Given the description of an element on the screen output the (x, y) to click on. 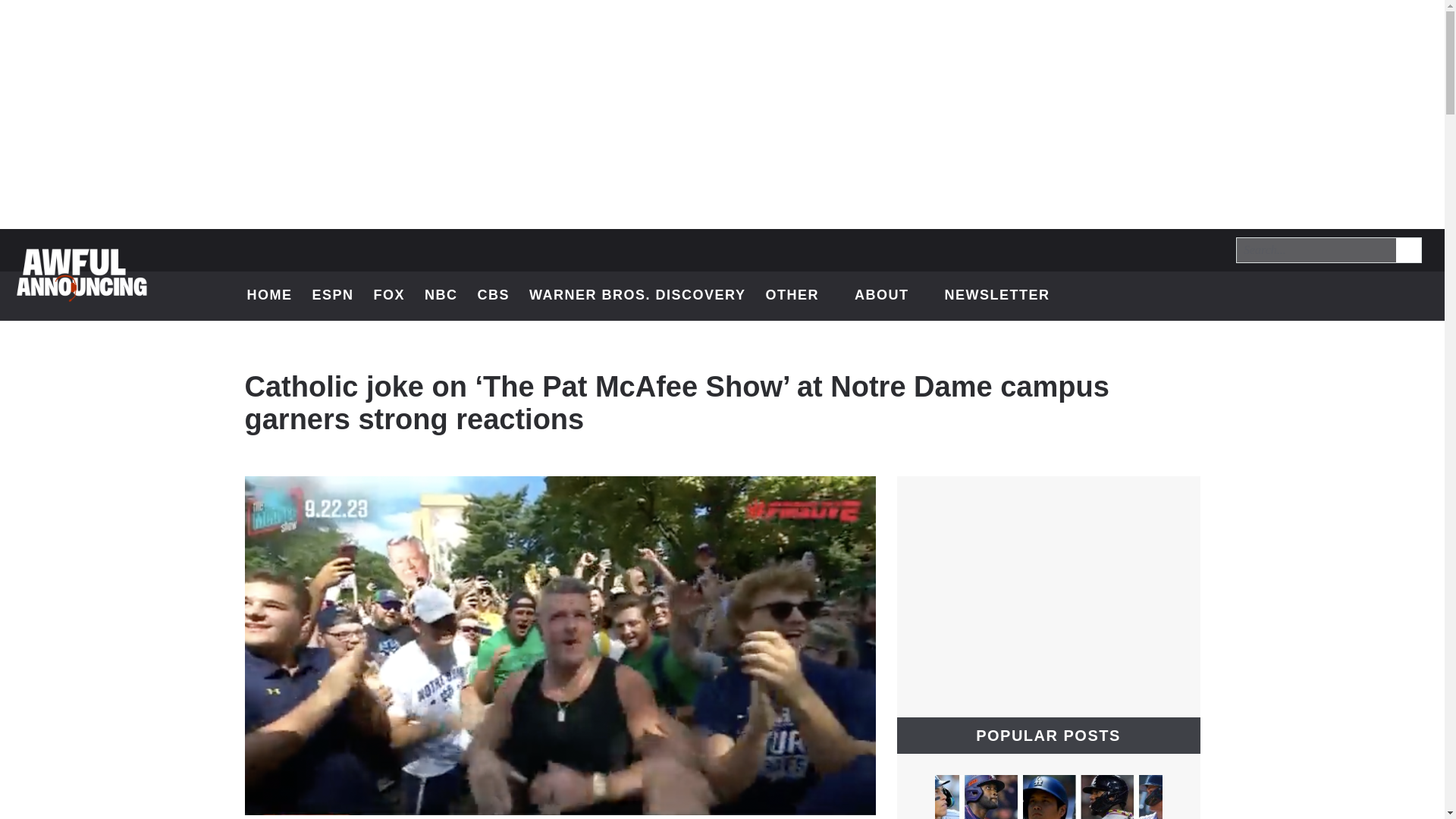
ESPN (1409, 249)
SEARCH (332, 296)
OTHER (1407, 249)
NEWSLETTER (799, 296)
Link to Twitter (996, 296)
CBS (1296, 296)
Link to RSS (493, 296)
Link to Instagram (1414, 296)
WARNER BROS. DISCOVERY (1375, 296)
HOME (636, 296)
ABOUT (269, 296)
Link to Facebook (889, 296)
FOX (1336, 296)
NBC (390, 296)
